Given the description of an element on the screen output the (x, y) to click on. 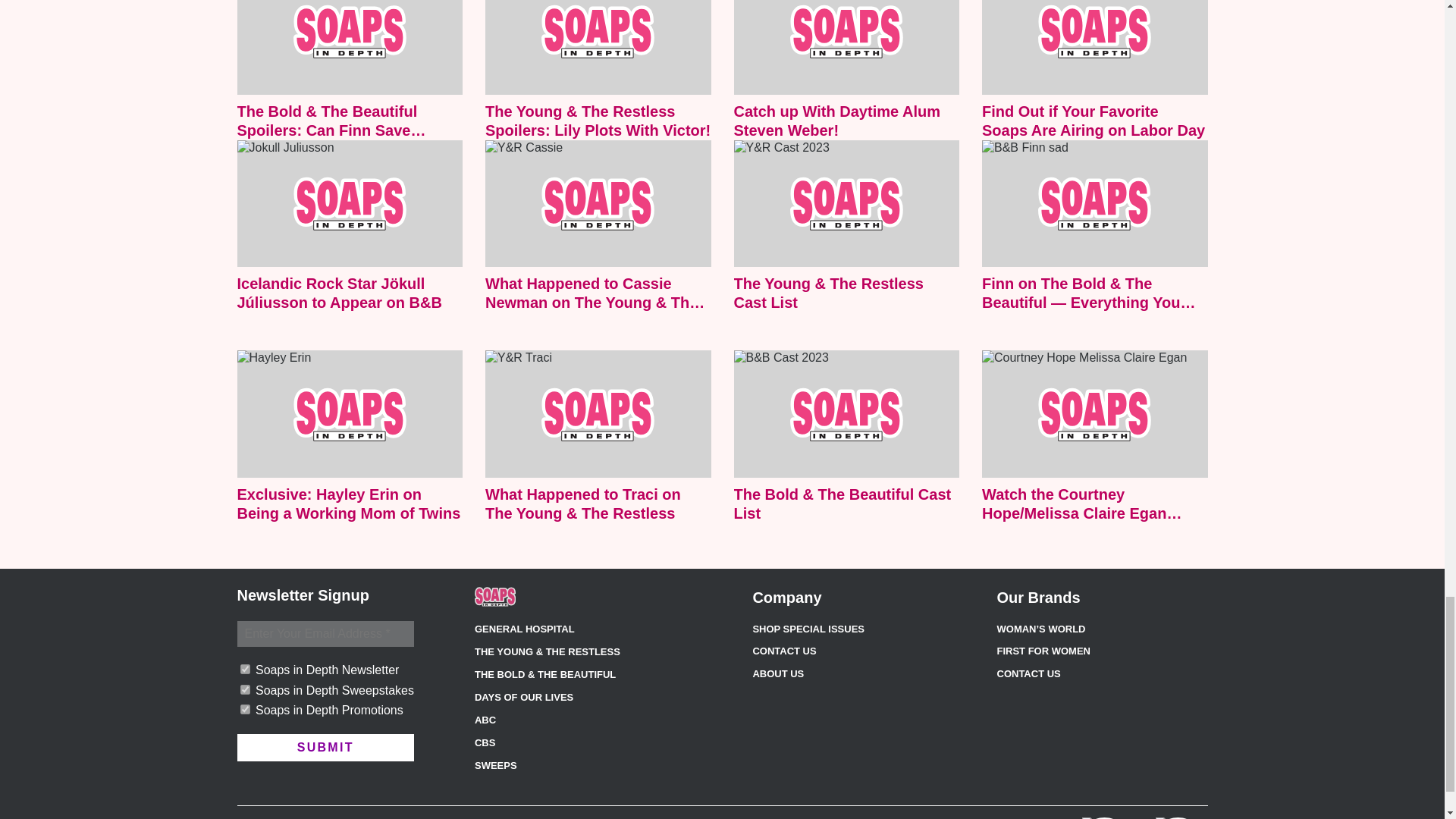
1 (244, 689)
1 (244, 669)
1 (244, 709)
